Given the description of an element on the screen output the (x, y) to click on. 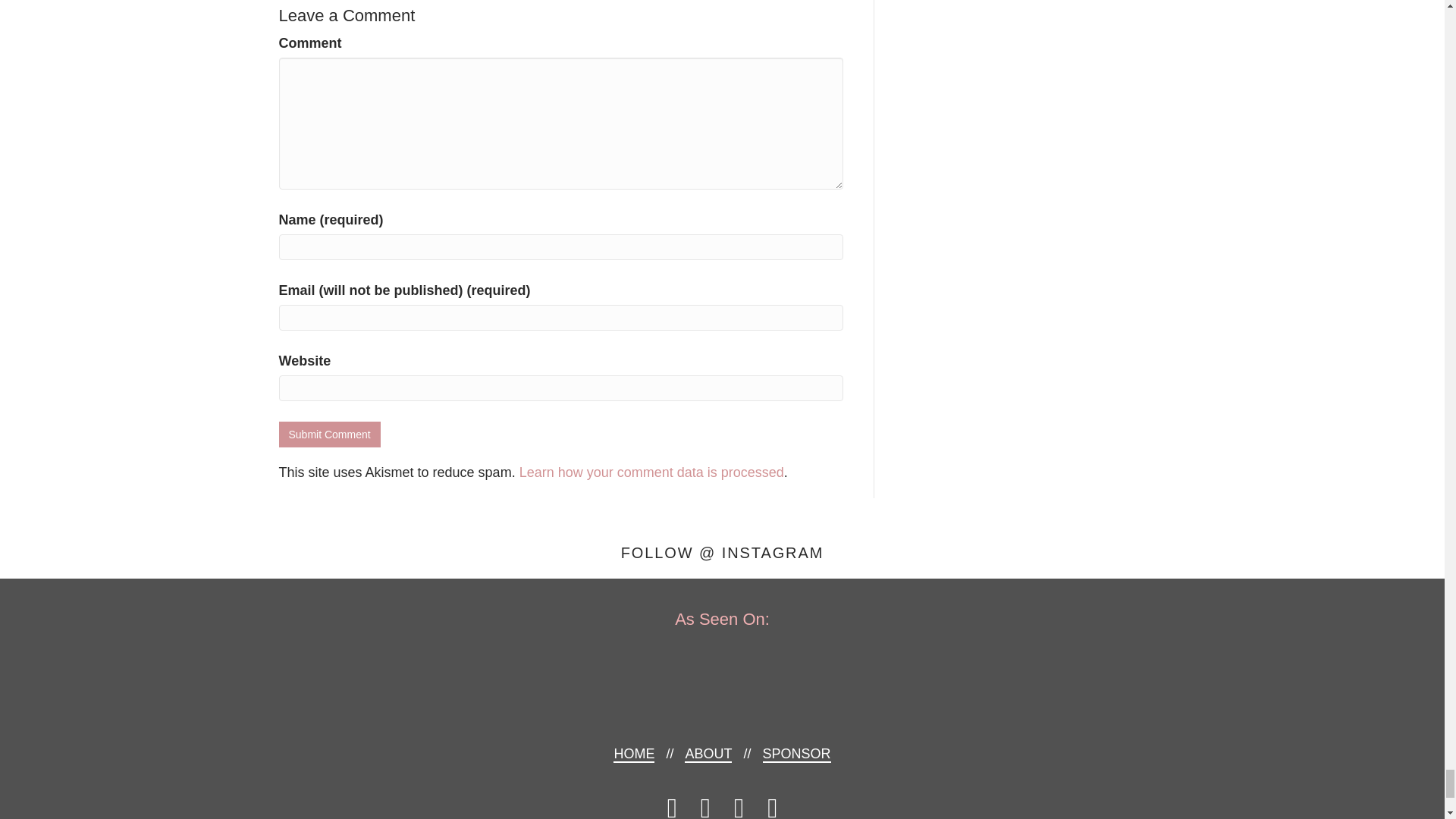
Submit Comment (329, 434)
